Given the description of an element on the screen output the (x, y) to click on. 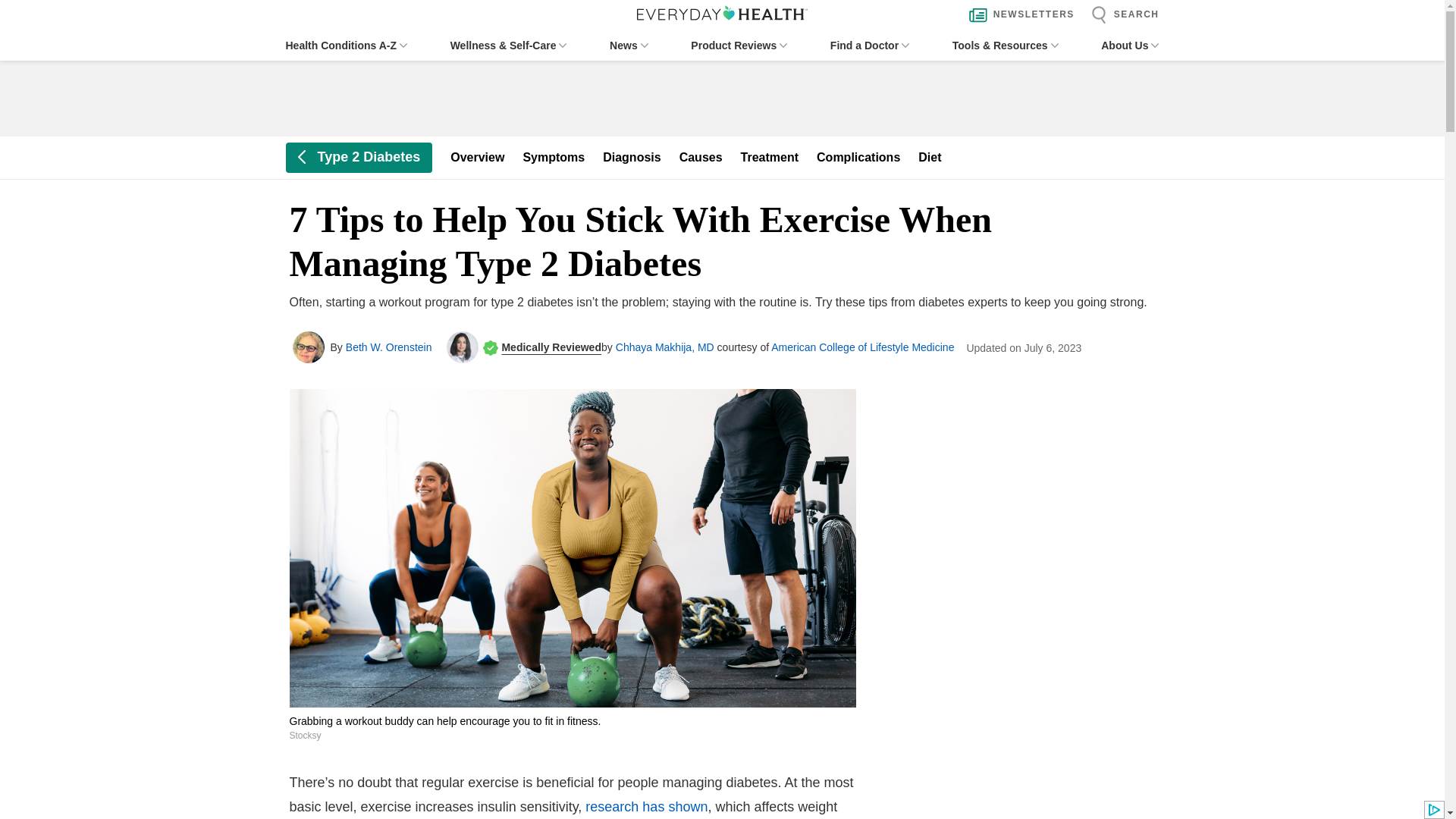
Product Reviews (738, 45)
Health Conditions A-Z (345, 45)
SEARCH (1120, 15)
Find a Doctor (868, 45)
NEWSLETTERS (1018, 15)
News (628, 45)
About Us (1129, 45)
